Given the description of an element on the screen output the (x, y) to click on. 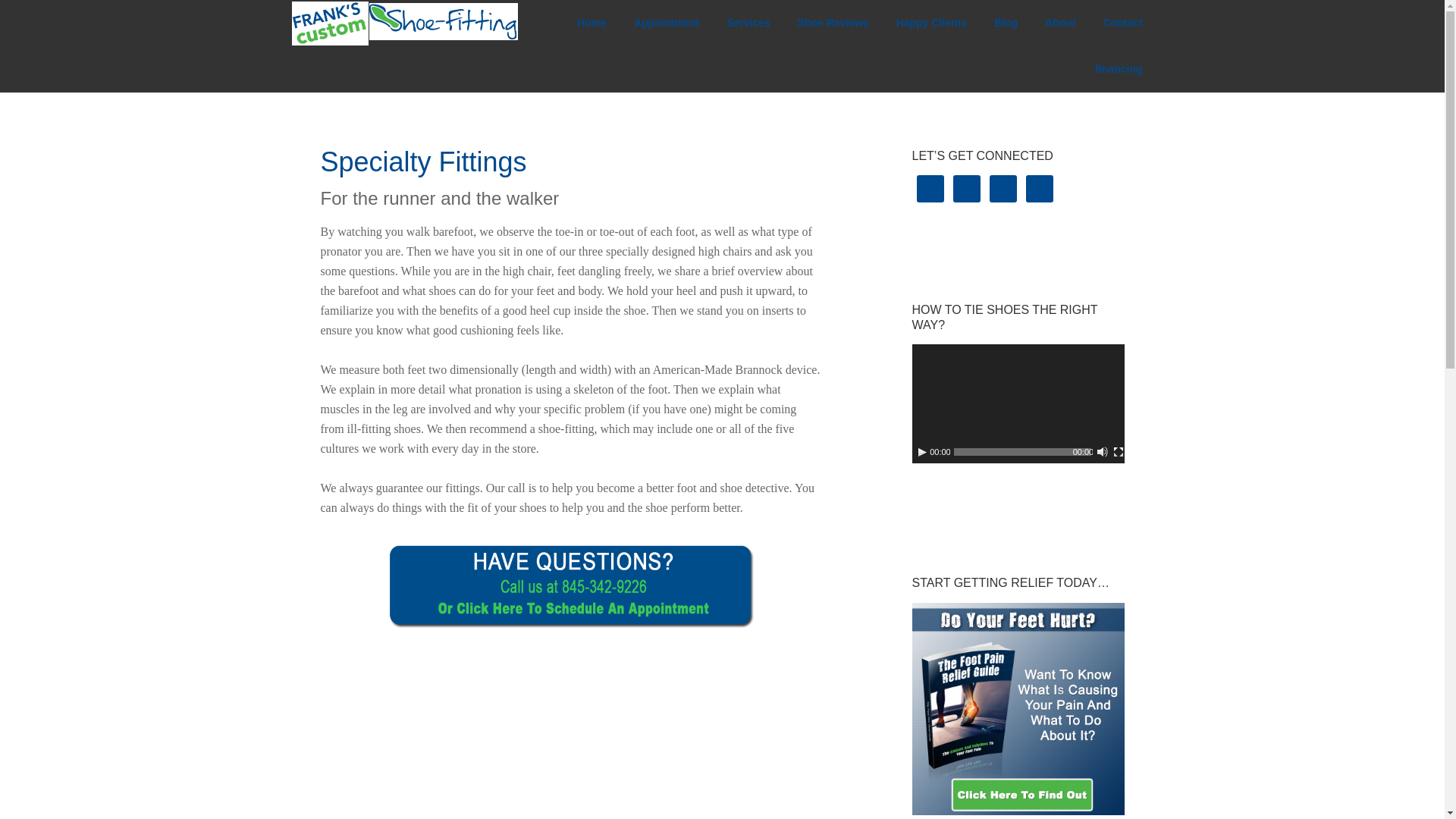
About (1059, 22)
Contact (1122, 22)
Appointment (666, 22)
Fullscreen (1118, 451)
Home (591, 22)
Services (748, 22)
Shoe Reviews (833, 22)
Happy Clients (930, 22)
Play (921, 451)
Mute (1102, 451)
financing (1118, 68)
Blog (1005, 22)
